Given the description of an element on the screen output the (x, y) to click on. 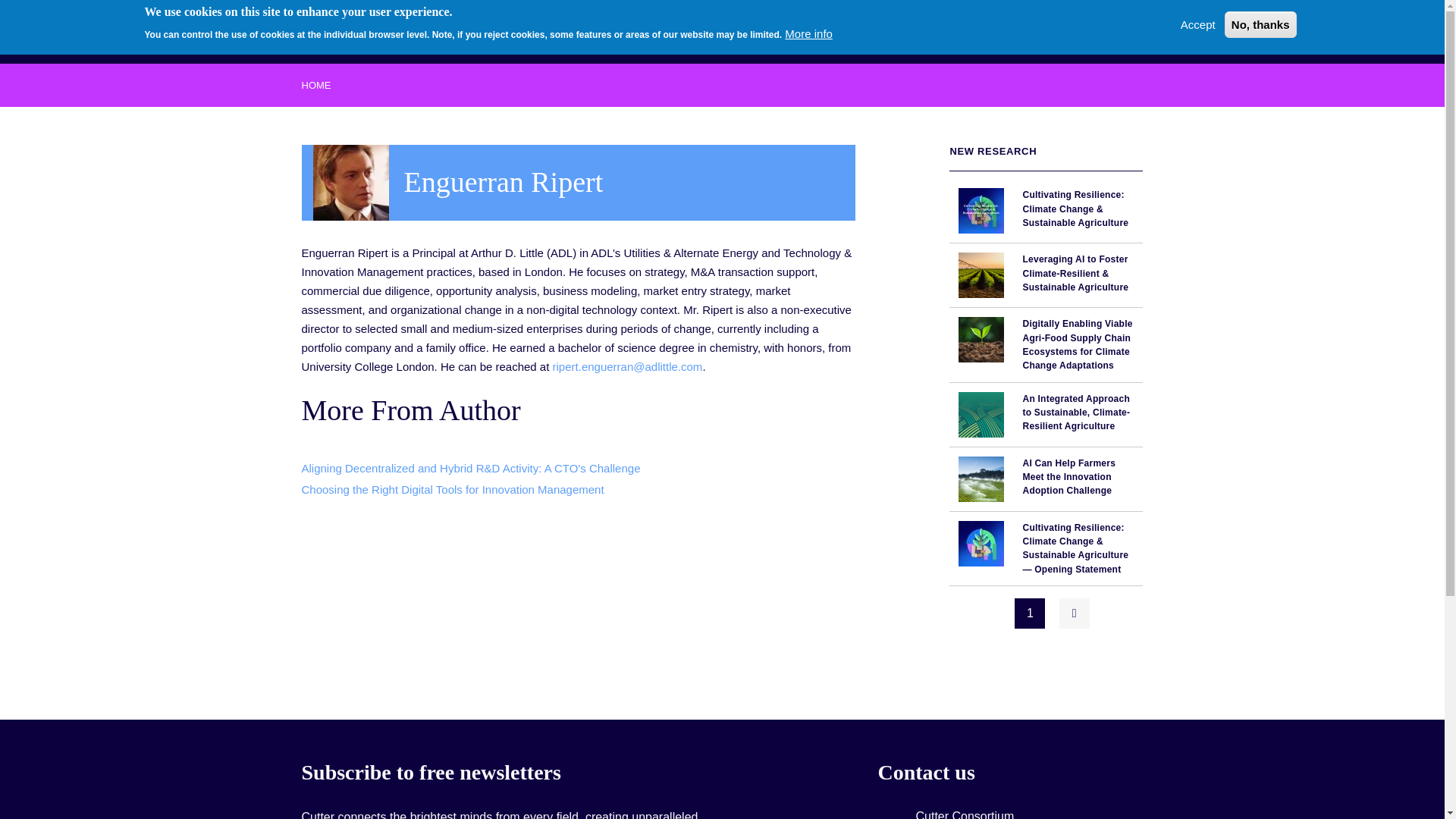
More info (808, 33)
Home (356, 29)
Go to next page (1074, 613)
No, thanks (1260, 24)
Accept (1197, 24)
